Given the description of an element on the screen output the (x, y) to click on. 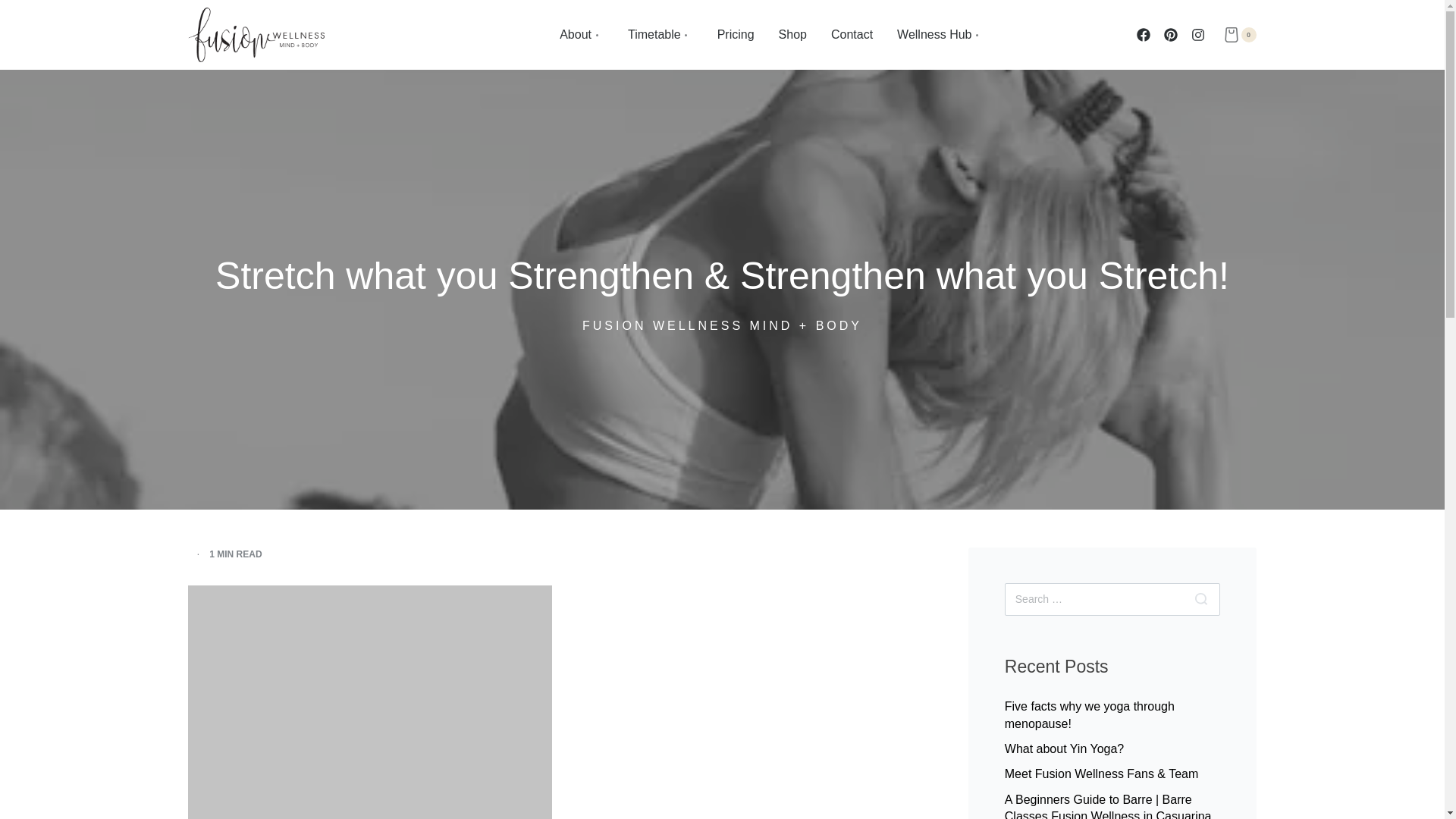
Timetable (660, 35)
About (581, 35)
Wellness Hub (940, 35)
Shop (792, 35)
0 (1239, 34)
Pricing (735, 35)
Contact (851, 35)
